Given the description of an element on the screen output the (x, y) to click on. 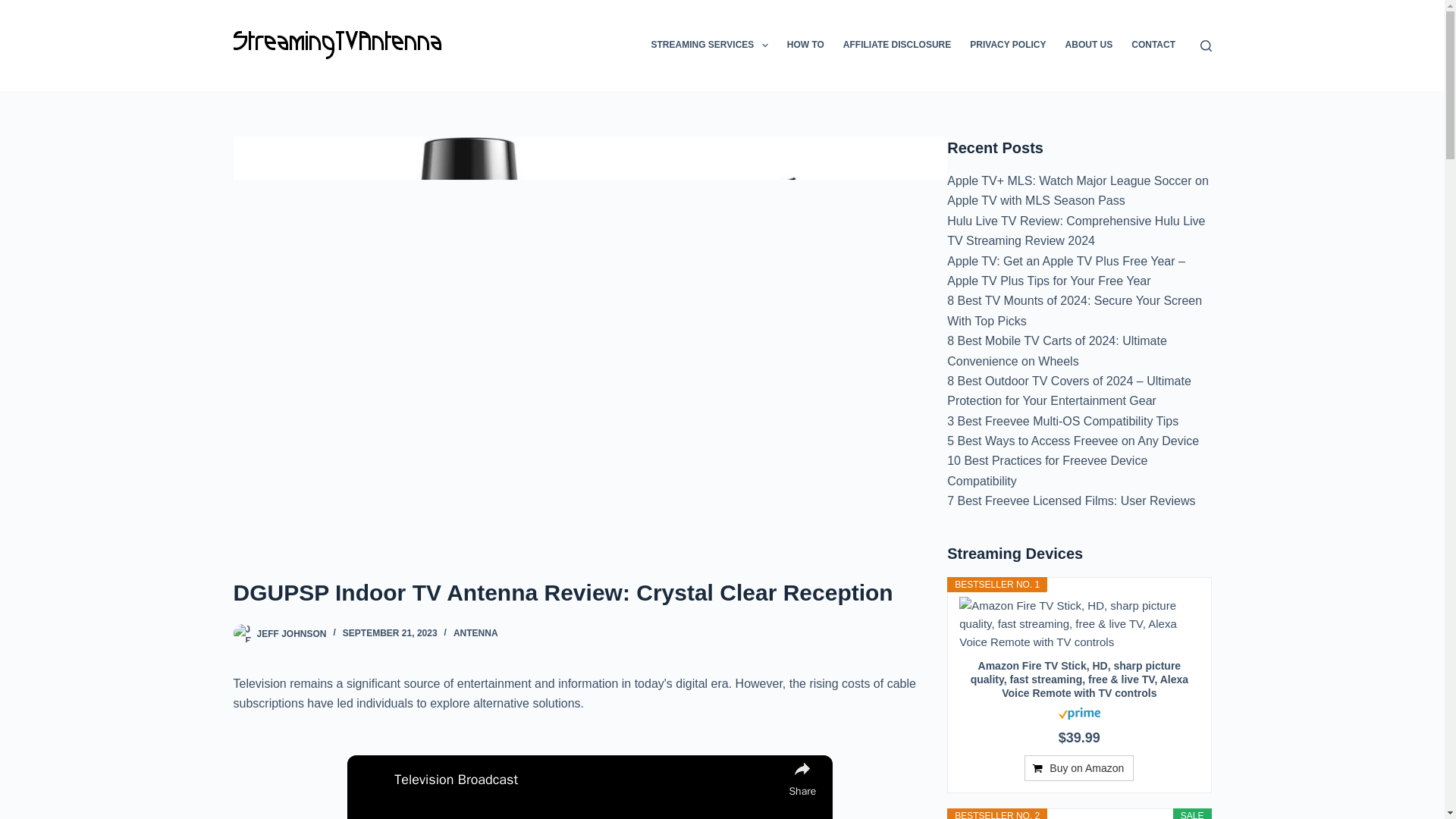
AFFILIATE DISCLOSURE (895, 45)
JEFF JOHNSON (291, 633)
Television Broadcast (587, 780)
Buy on Amazon (1079, 768)
Amazon Prime (1079, 712)
DGUPSP Indoor TV Antenna Review: Crystal Clear Reception (589, 592)
PRIVACY POLICY (1007, 45)
STREAMING SERVICES (709, 45)
ANTENNA (474, 633)
Skip to content (15, 7)
Posts by Jeff Johnson (291, 633)
